Given the description of an element on the screen output the (x, y) to click on. 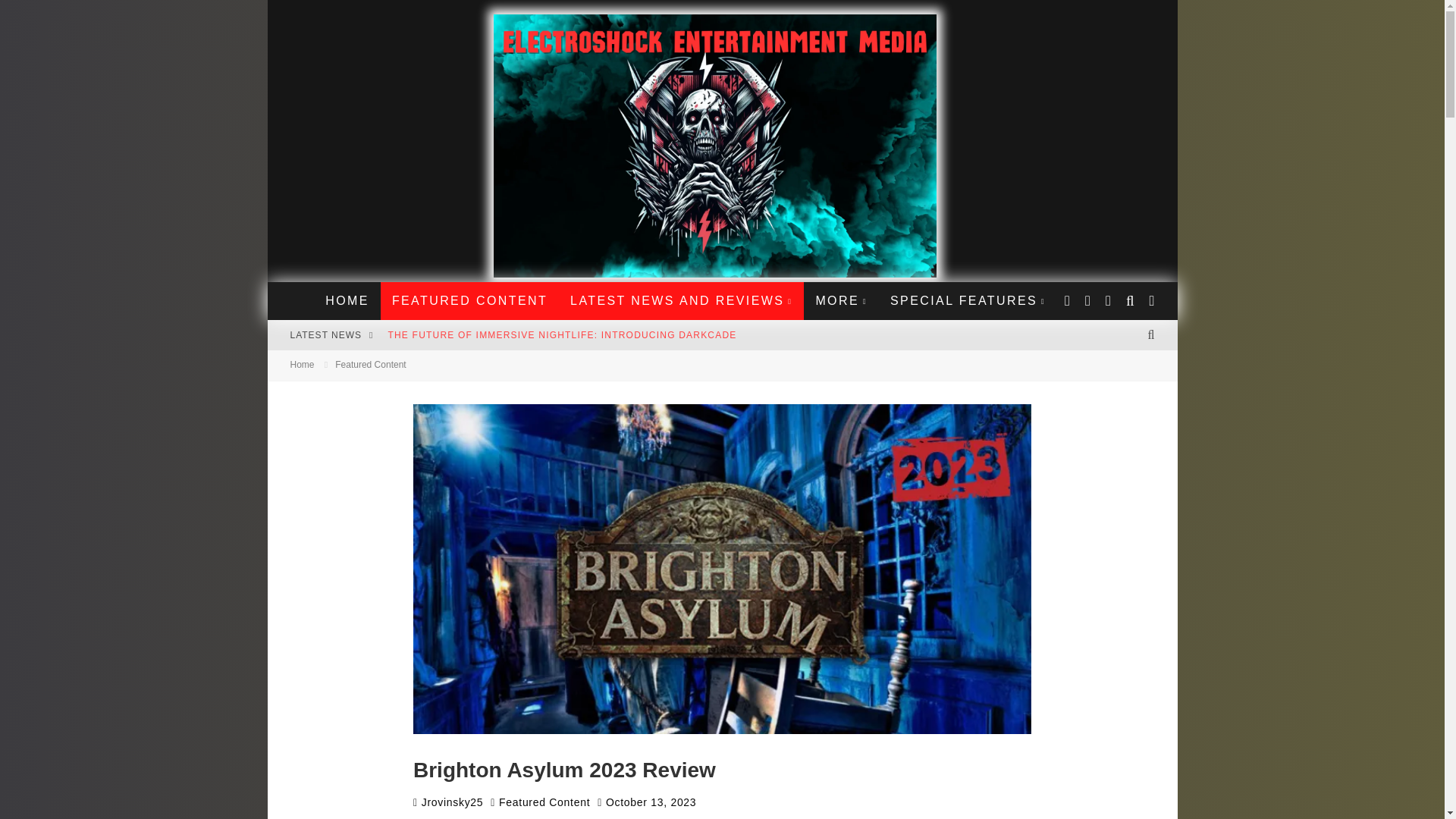
LATEST NEWS AND REVIEWS (681, 300)
FEATURED CONTENT (469, 300)
The Future of Immersive Nightlife: Introducing Darkcade (561, 335)
HOME (347, 300)
